Given the description of an element on the screen output the (x, y) to click on. 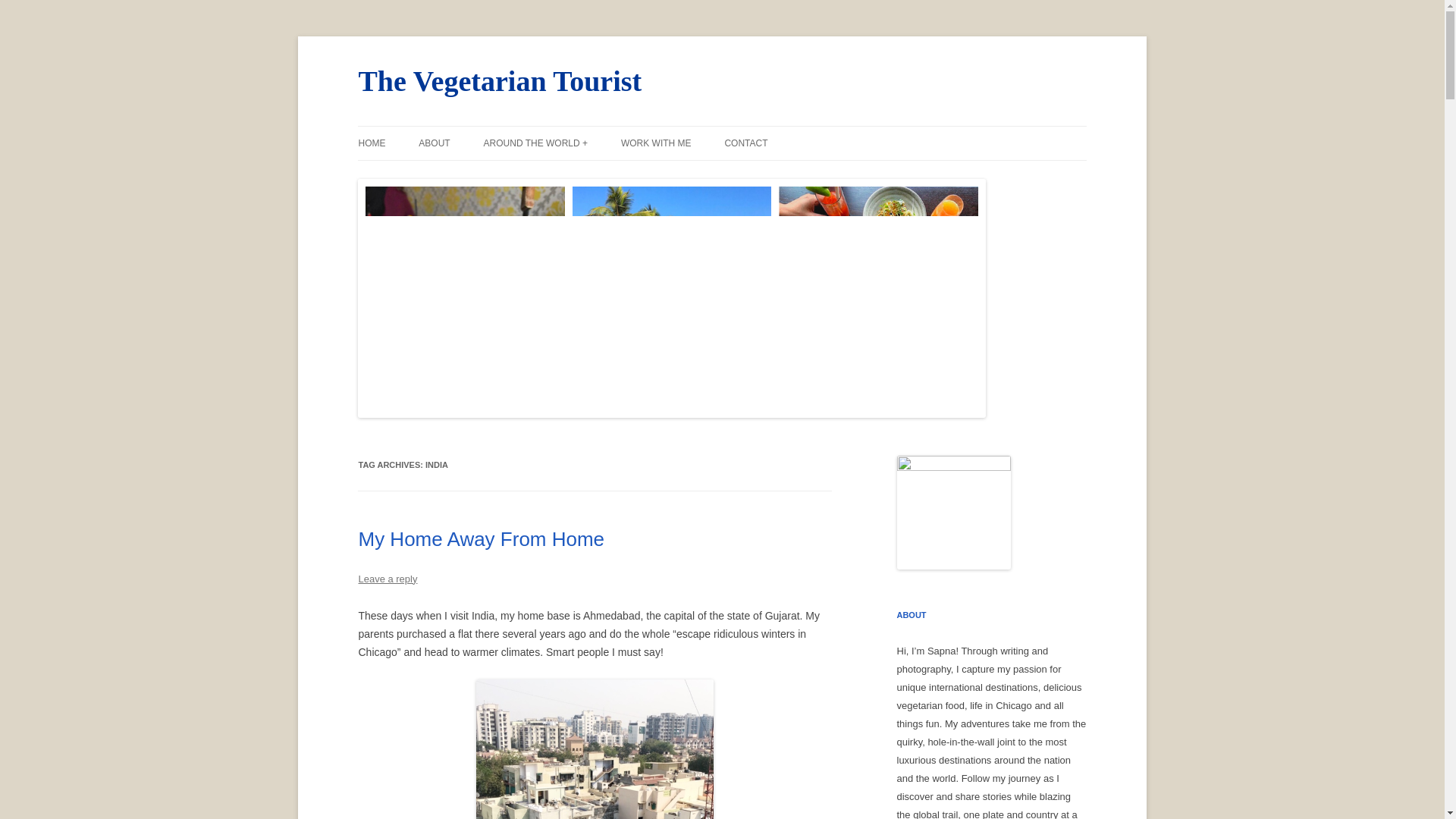
The Vegetarian Tourist (500, 80)
ABOUT (434, 142)
US (558, 174)
